Given the description of an element on the screen output the (x, y) to click on. 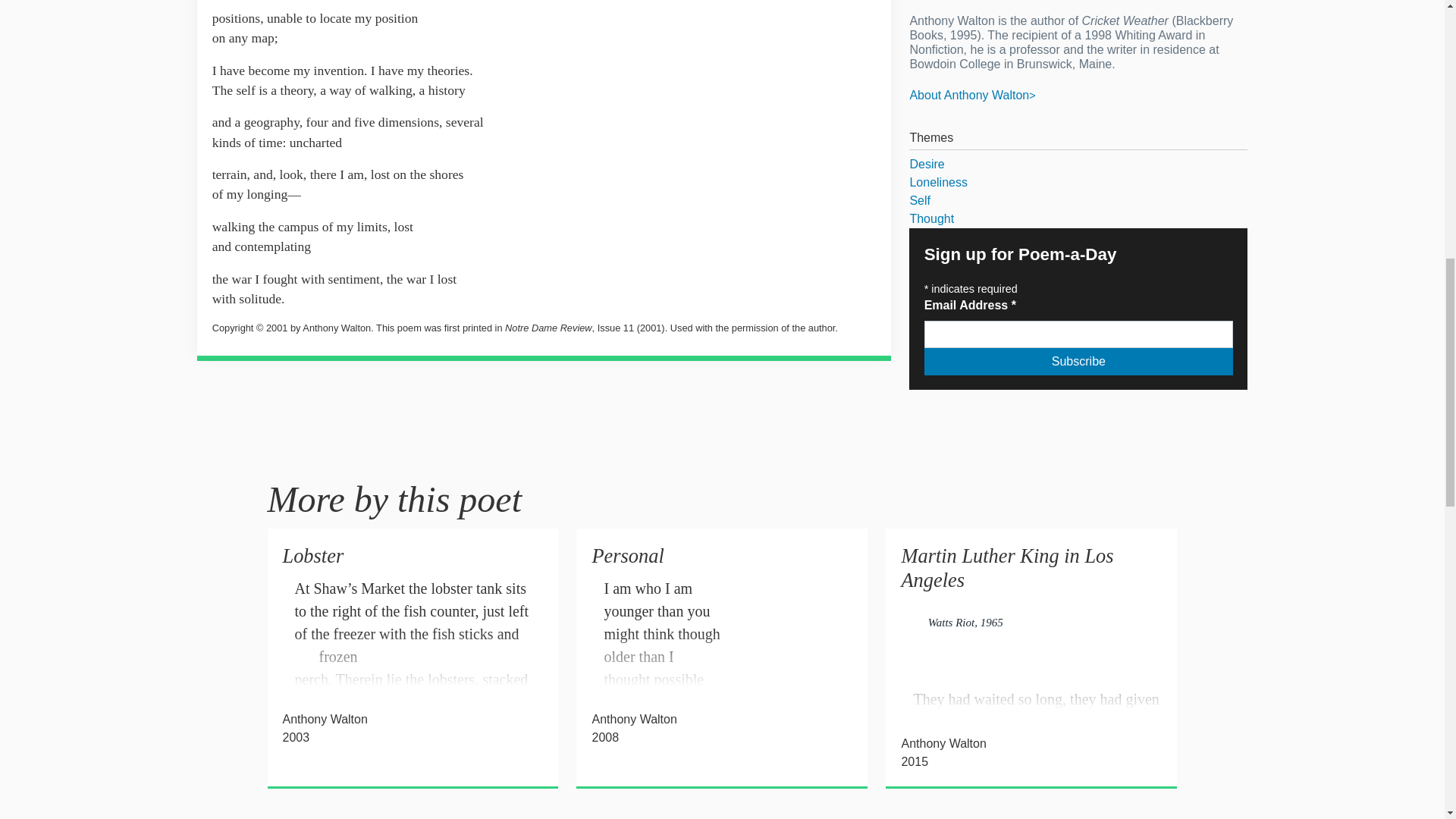
Self (1077, 200)
Desire (1077, 164)
Thought (1077, 218)
Subscribe (1078, 361)
About Anthony Walton (971, 94)
Loneliness (1077, 182)
Subscribe (1078, 361)
